Given the description of an element on the screen output the (x, y) to click on. 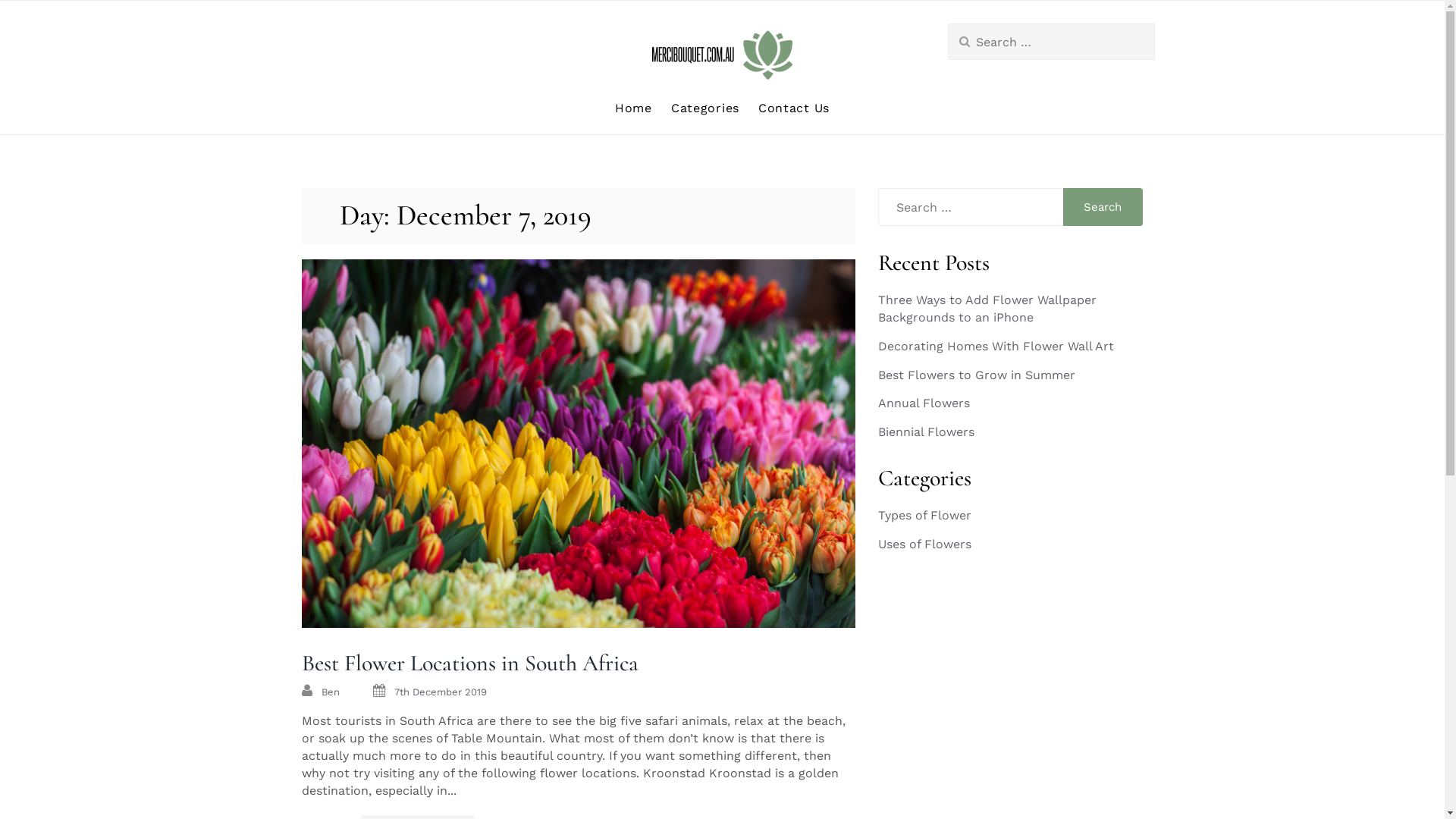
Search Element type: text (31, 18)
Types of Flower Element type: text (924, 515)
Biennial Flowers Element type: text (926, 431)
Three Ways to Add Flower Wallpaper Backgrounds to an iPhone Element type: text (987, 308)
Best Flowers to Grow in Summer Element type: text (976, 374)
Home Element type: text (633, 108)
Annual Flowers Element type: text (923, 402)
Best Flower Locations in South Africa Element type: text (469, 663)
Contact Us Element type: text (793, 108)
7th December 2019 Element type: text (440, 691)
Uses of Flowers Element type: text (924, 543)
Search Element type: text (1102, 206)
Decorating Homes With Flower Wall Art Element type: text (995, 345)
Categories Element type: text (704, 108)
Ben Element type: text (330, 691)
